Given the description of an element on the screen output the (x, y) to click on. 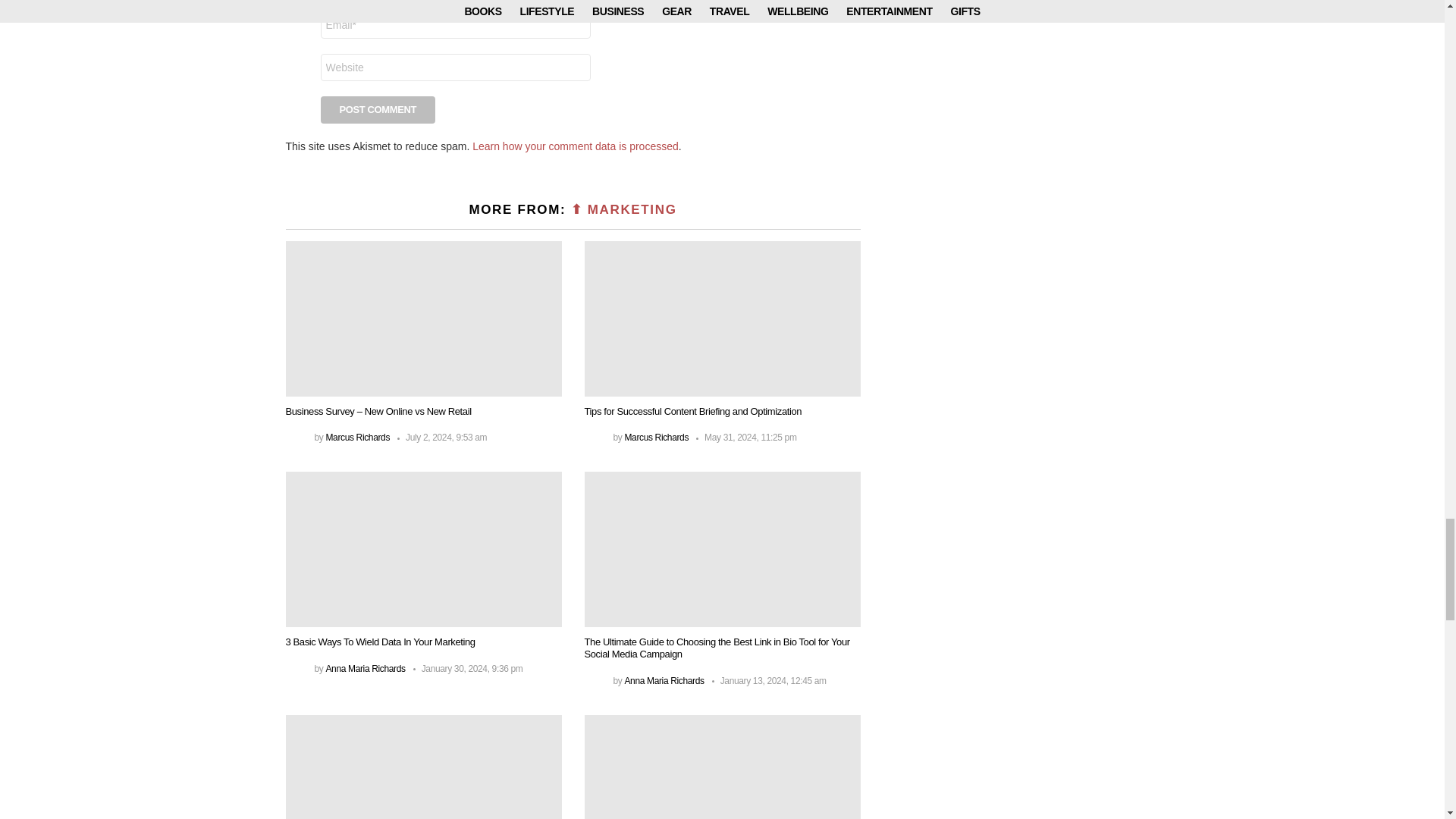
Posts by Anna Maria Richards (663, 680)
Posts by Anna Maria Richards (364, 668)
Tips for Successful Content Briefing and Optimization (721, 318)
Posts by Marcus Richards (357, 437)
Posts by Marcus Richards (656, 437)
Post Comment (377, 109)
3 Basic Ways To Wield Data In Your Marketing (422, 549)
